Given the description of an element on the screen output the (x, y) to click on. 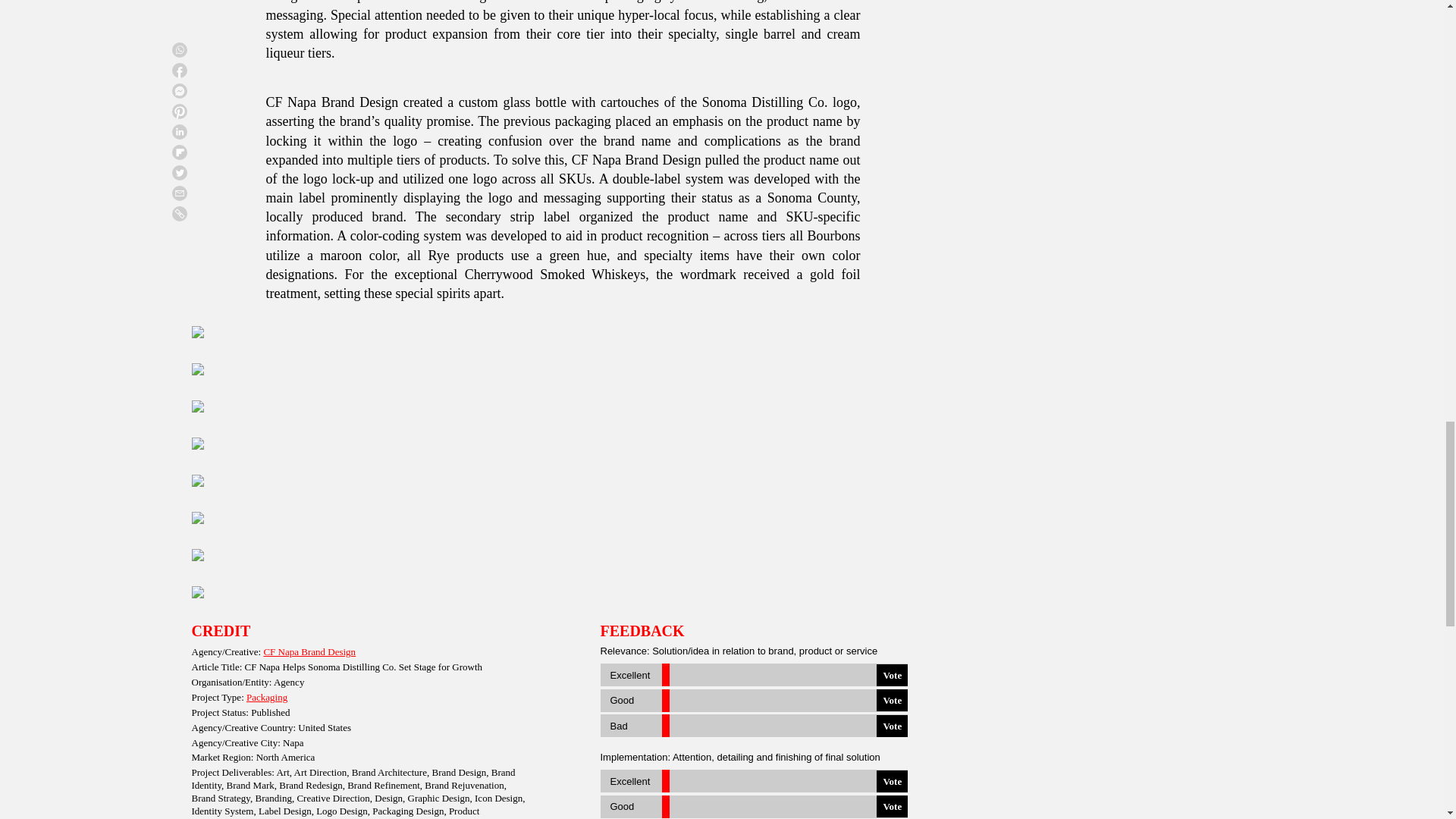
Packaging (266, 696)
CF Napa Brand Design (309, 651)
